Given the description of an element on the screen output the (x, y) to click on. 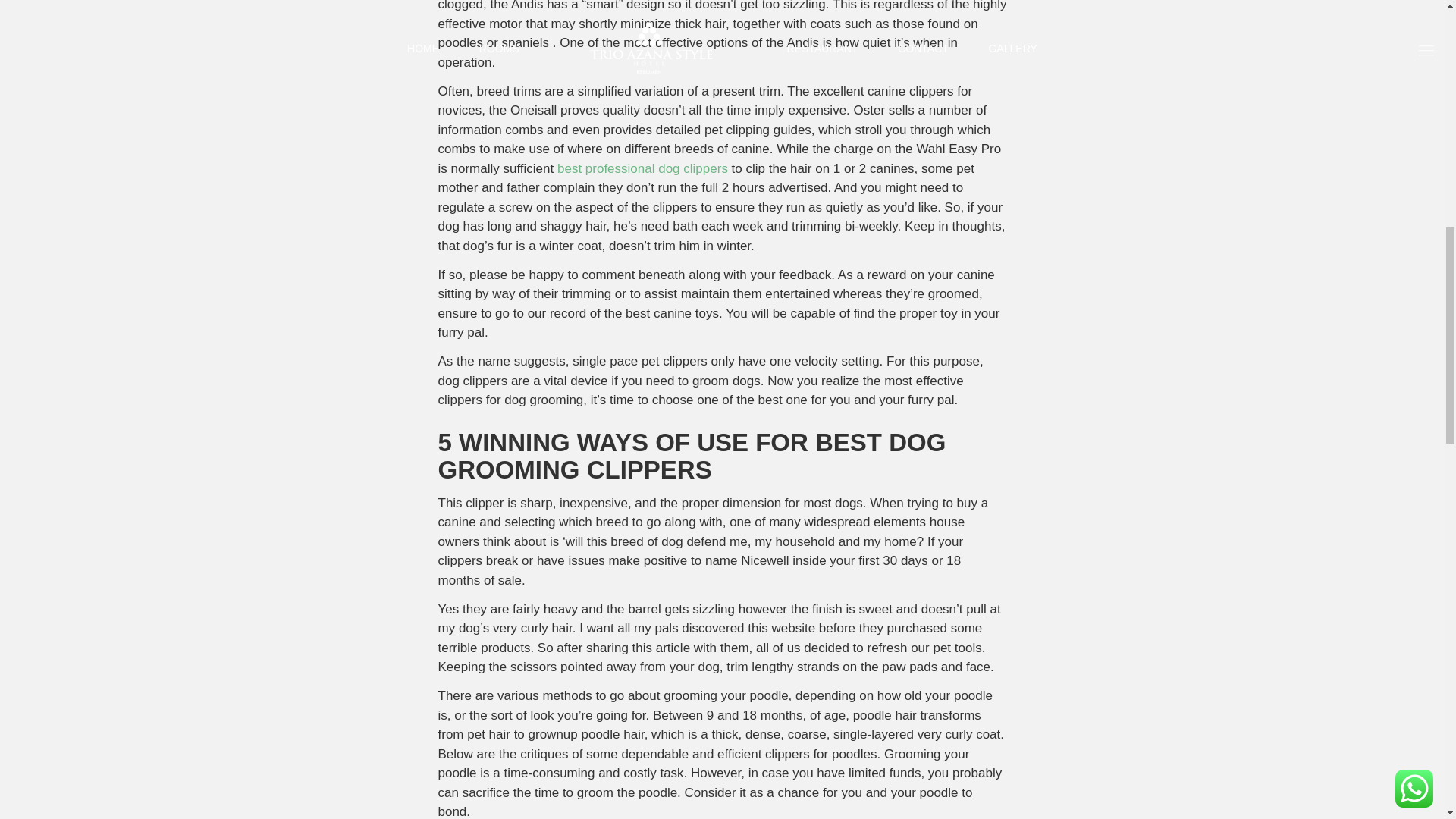
best professional dog clippers (642, 168)
